Given the description of an element on the screen output the (x, y) to click on. 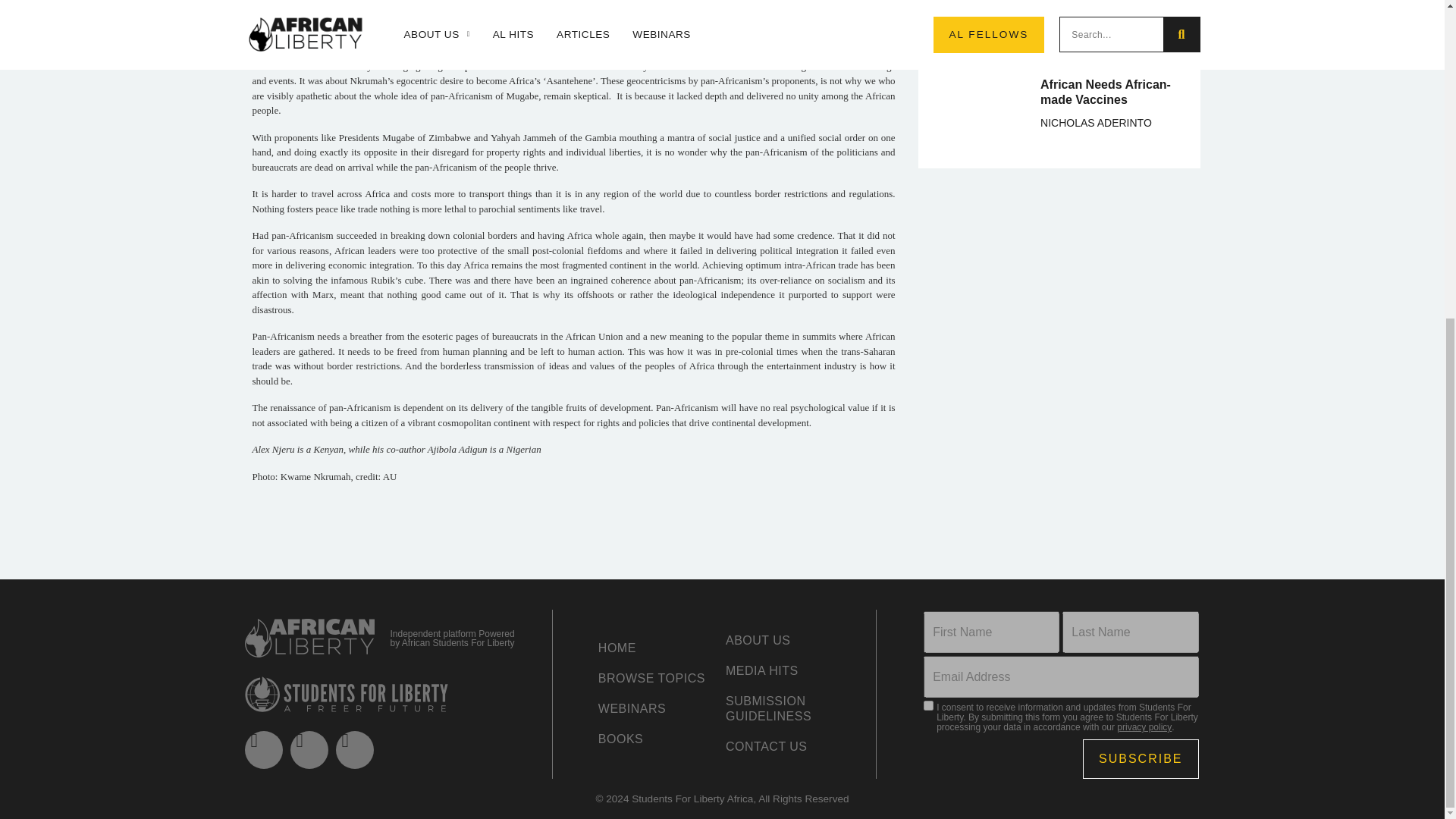
First Name (991, 631)
Subscribe (1140, 758)
Email (1060, 676)
Last Name (1130, 631)
